Given the description of an element on the screen output the (x, y) to click on. 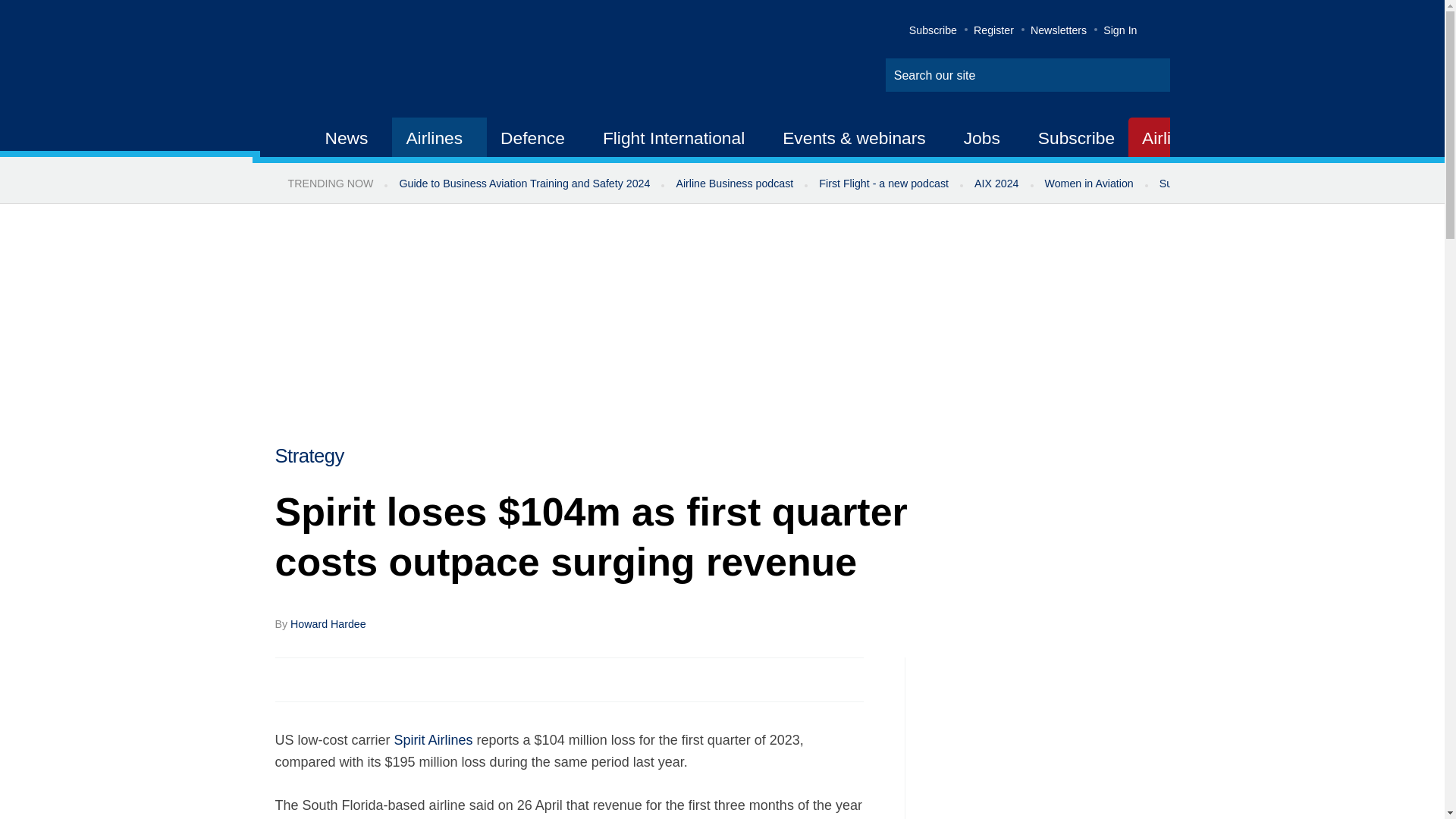
Site name (422, 60)
Women in Aviation (1089, 183)
Guide to Business Aviation Training and Safety 2024 (523, 183)
Email this article (386, 678)
AIX 2024 (996, 183)
Share this on Linked in (352, 678)
Share this on Twitter (320, 678)
Share this on Facebook (288, 678)
Sustainable Aviation newsletter (1234, 183)
First Flight - a new podcast (883, 183)
